Given the description of an element on the screen output the (x, y) to click on. 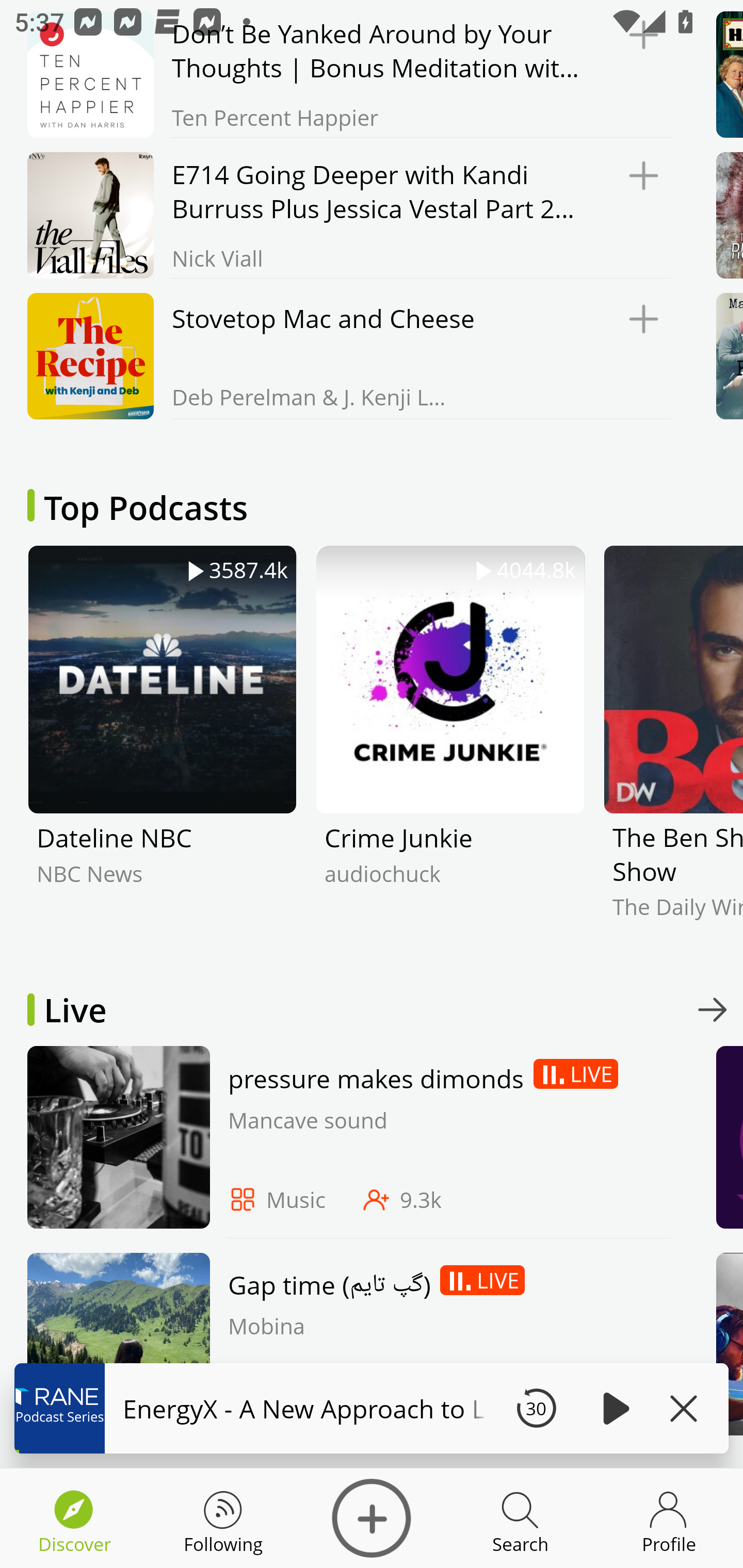
3587.4k Dateline NBC NBC News (162, 747)
4044.8k Crime Junkie audiochuck (450, 747)
The Ben Shapiro Show The Daily Wire (673, 747)
Gap time (گپ تایم) LIVE Mobina Friends 2.8k (344, 1348)
Play (613, 1407)
30 Seek Backward (536, 1407)
Discover Following (222, 1518)
Discover (371, 1518)
Discover Search (519, 1518)
Discover Profile (668, 1518)
